Given the description of an element on the screen output the (x, y) to click on. 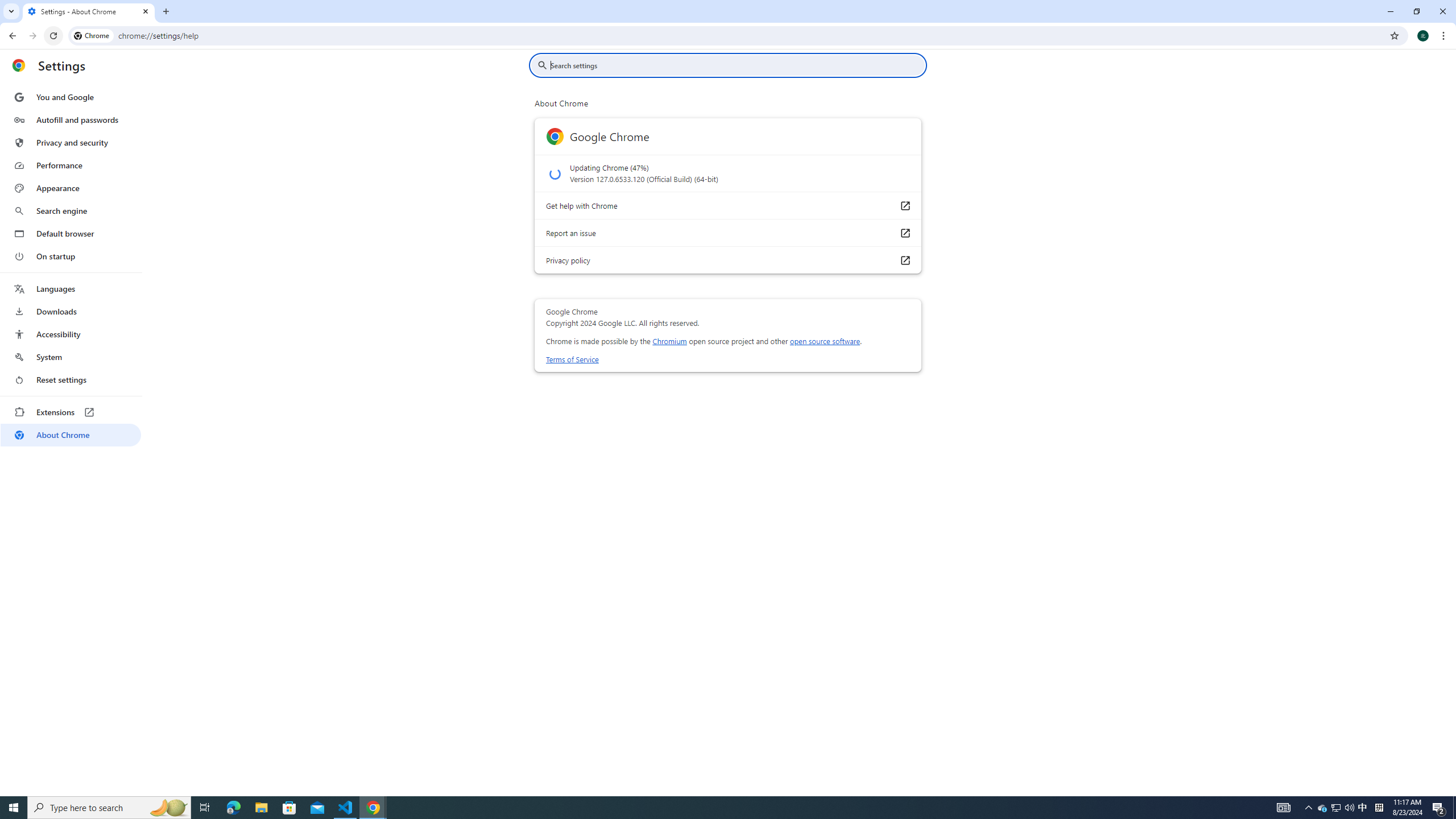
Settings - About Chrome (88, 11)
Privacy policy (904, 259)
Reset settings (70, 379)
AutomationID: menu (71, 265)
About Chrome (70, 434)
On startup (70, 255)
open source software (824, 340)
